Given the description of an element on the screen output the (x, y) to click on. 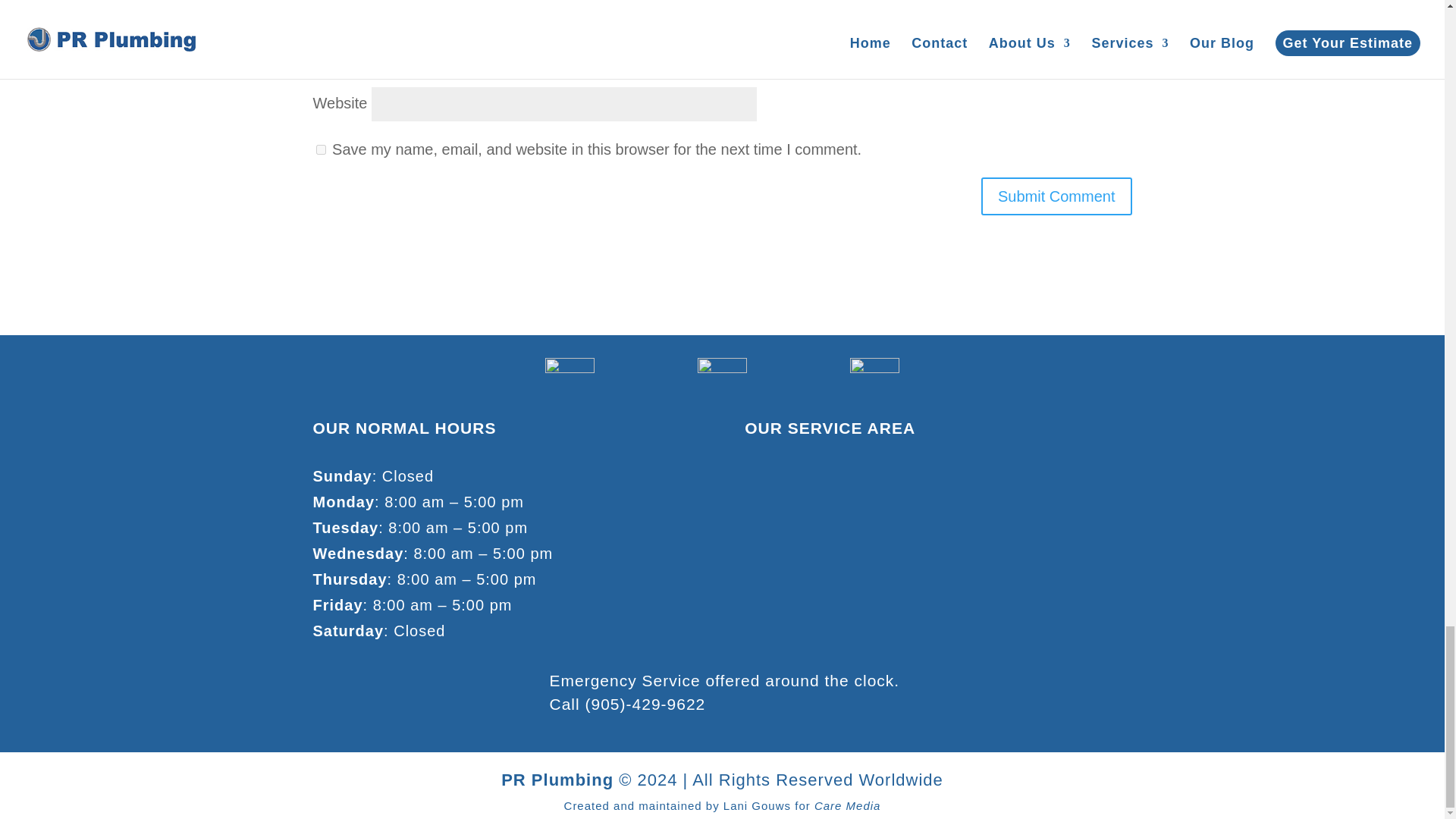
Care Media (846, 805)
PR Plumbing Google.jpg (569, 382)
Submit Comment (1056, 196)
yes (319, 149)
Submit Comment (1056, 196)
